Given the description of an element on the screen output the (x, y) to click on. 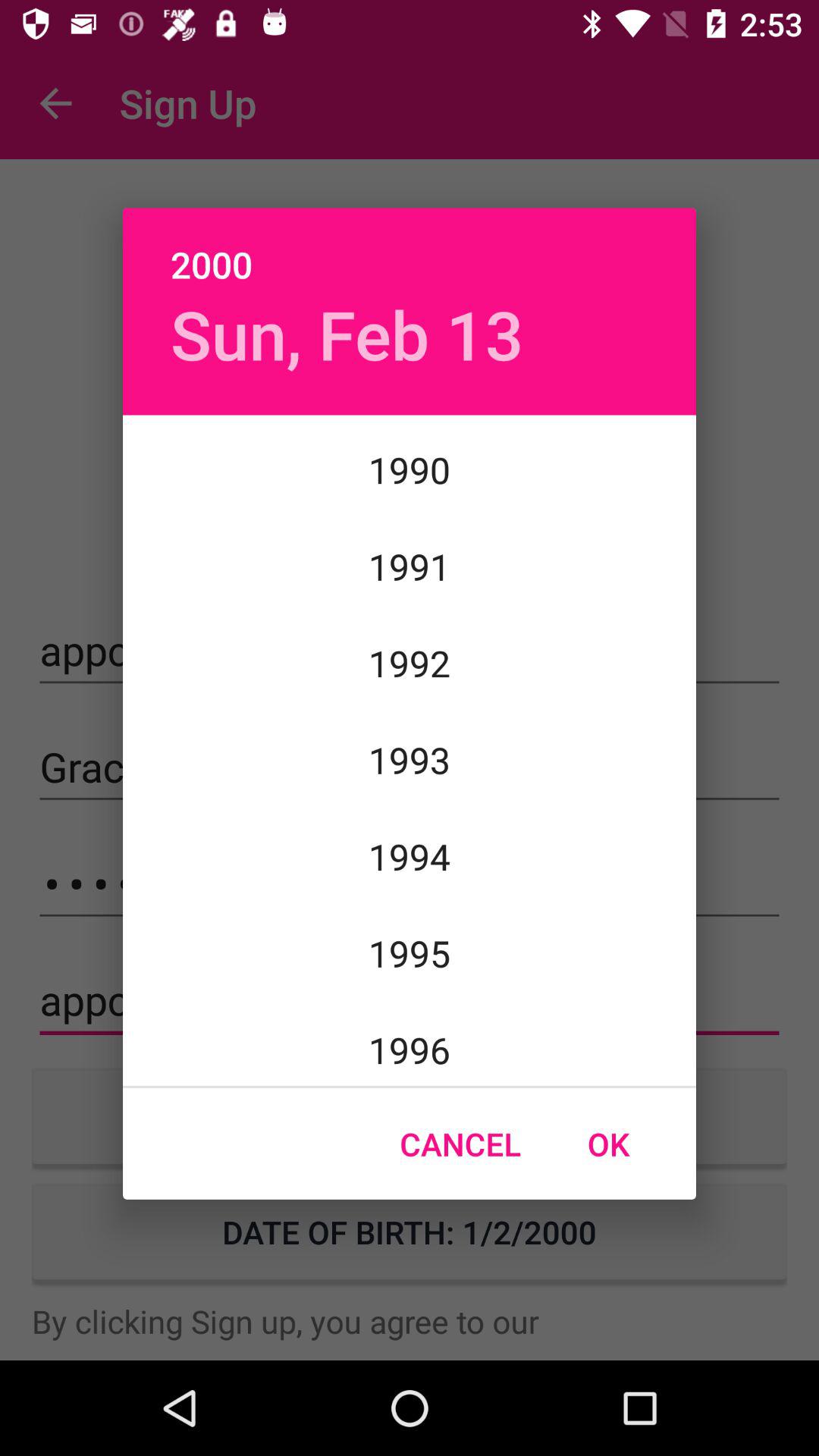
tap the icon to the right of cancel item (608, 1143)
